Given the description of an element on the screen output the (x, y) to click on. 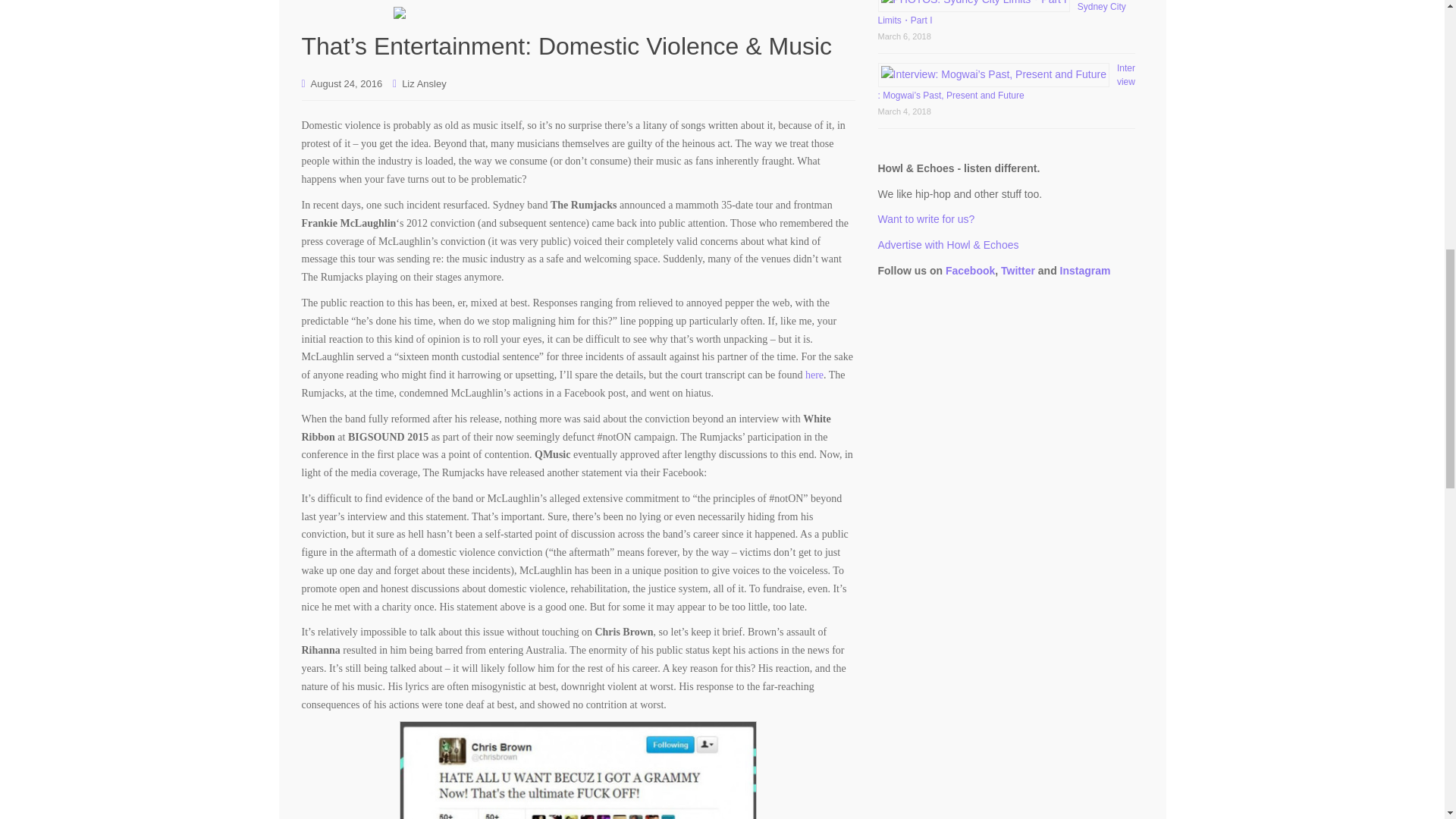
August 24, 2016 (346, 83)
Liz Ansley (423, 83)
here (814, 374)
